Given the description of an element on the screen output the (x, y) to click on. 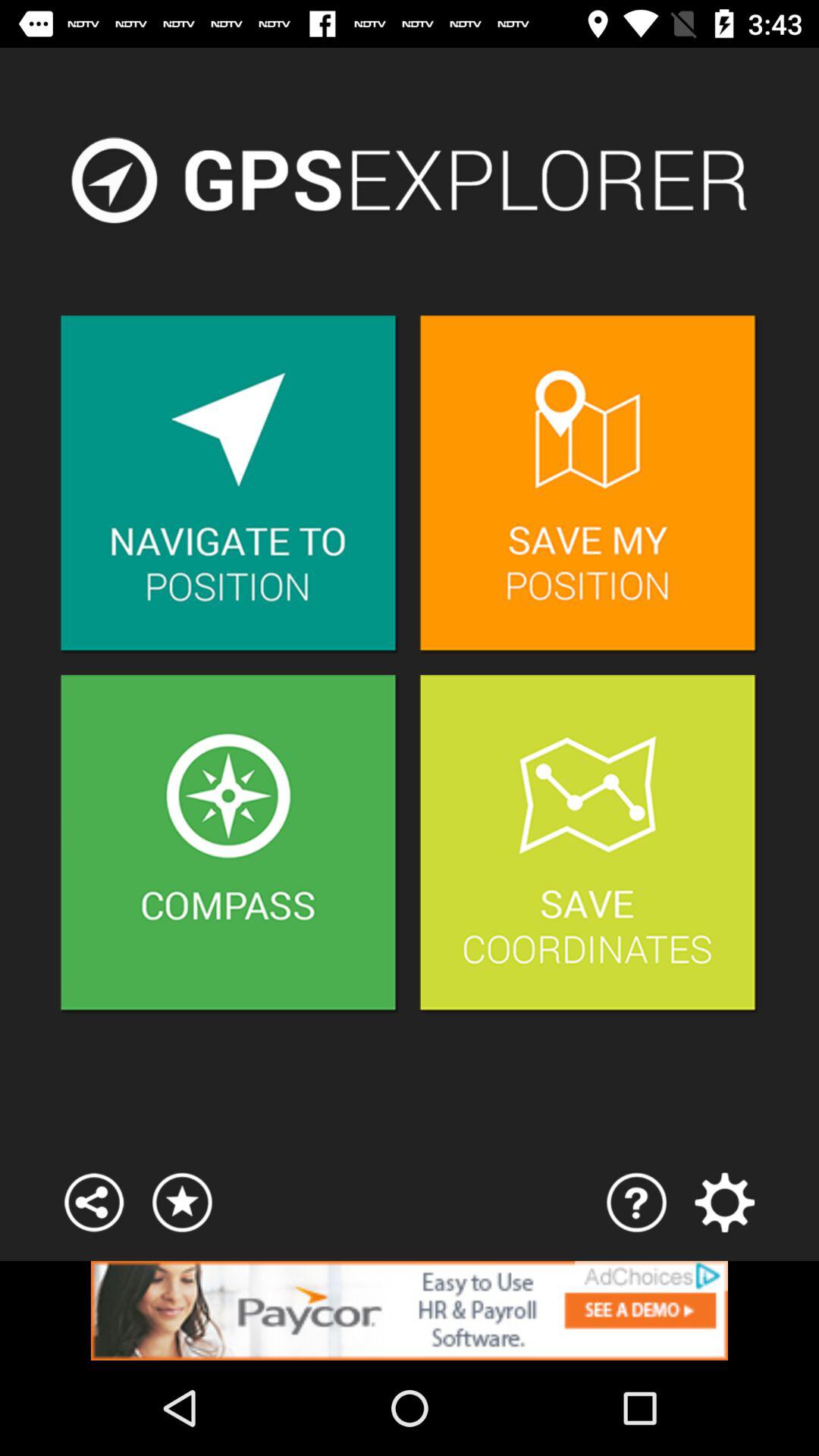
acess compass item (229, 844)
